Given the description of an element on the screen output the (x, y) to click on. 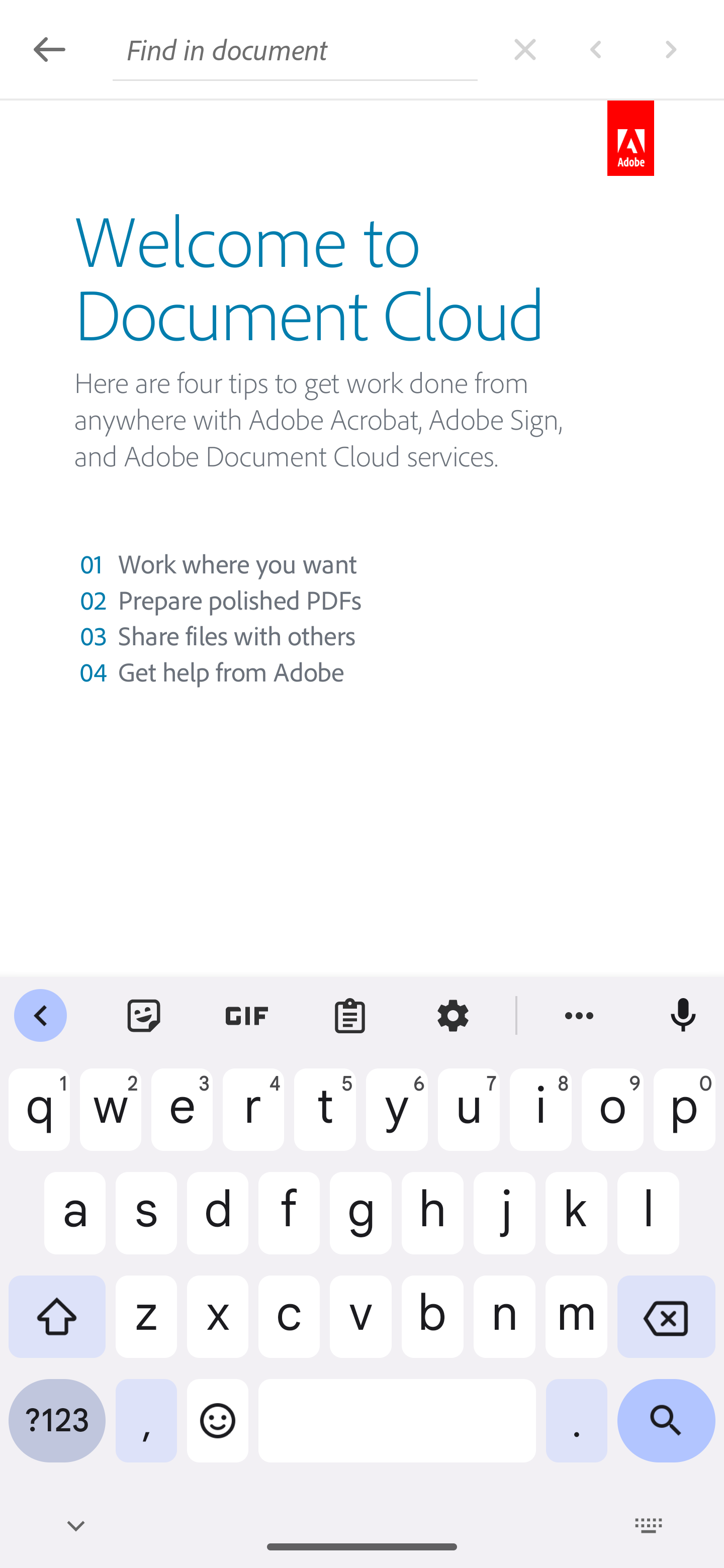
Collapse (49, 49)
Close (524, 48)
Previous (595, 48)
Next (669, 48)
Find in document (294, 49)
